Given the description of an element on the screen output the (x, y) to click on. 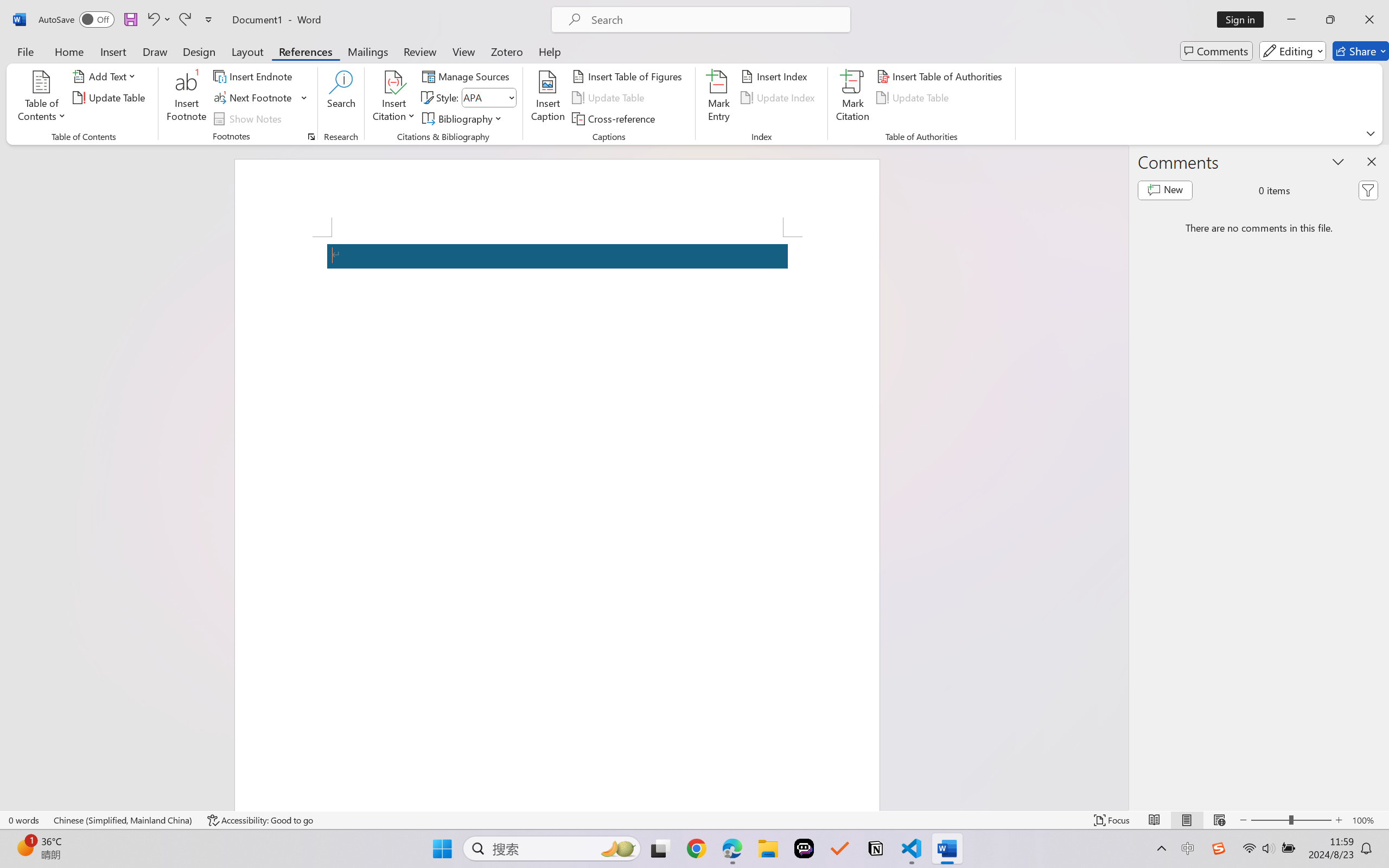
Undo Apply Quick Style Set (152, 19)
